Given the description of an element on the screen output the (x, y) to click on. 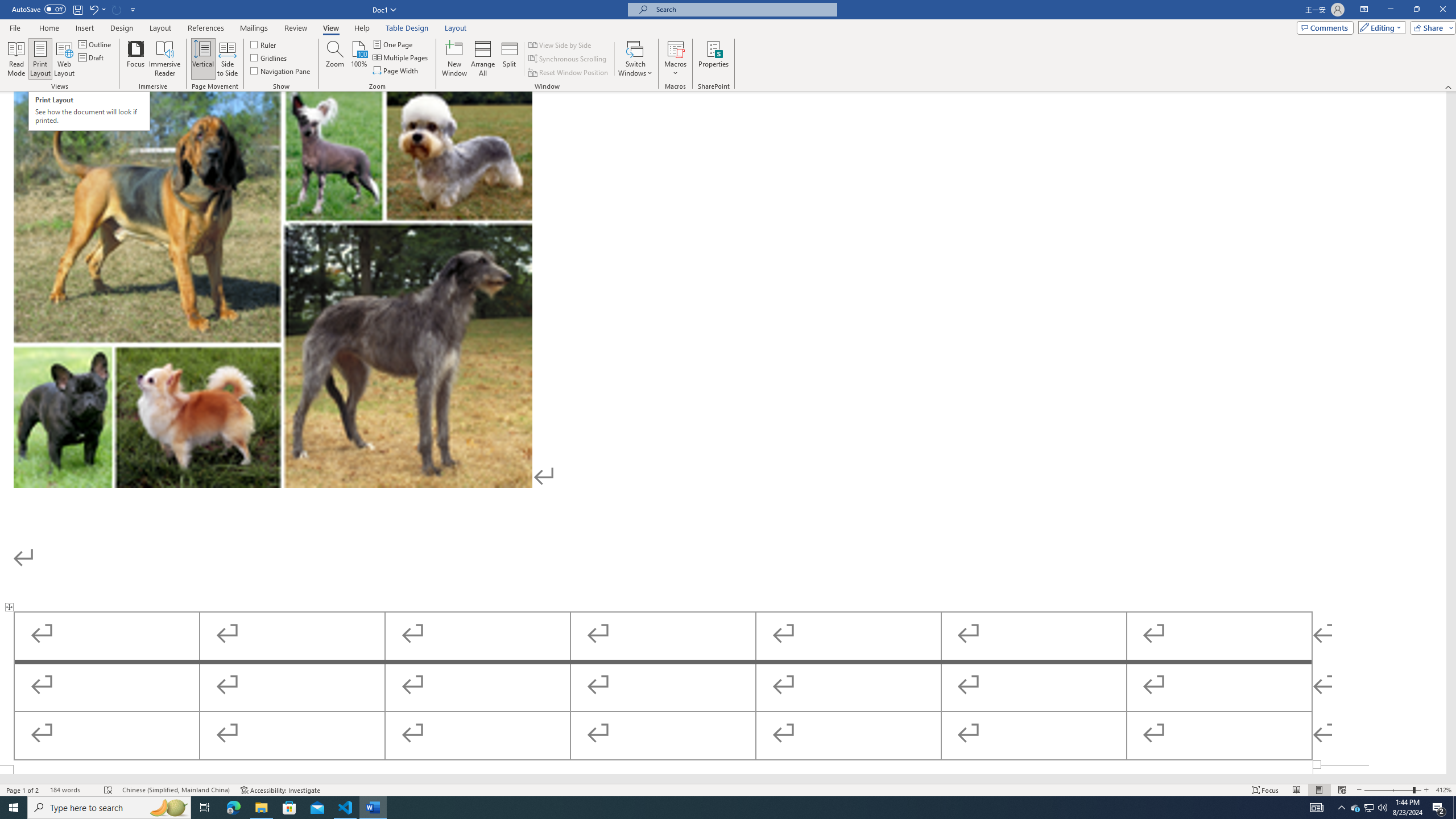
Macros (675, 58)
View Side by Side (561, 44)
Can't Repeat (117, 9)
Undo Row Height Spinner (92, 9)
Zoom 412% (1443, 790)
Switch Windows (635, 58)
Multiple Pages (400, 56)
Ruler (263, 44)
